Given the description of an element on the screen output the (x, y) to click on. 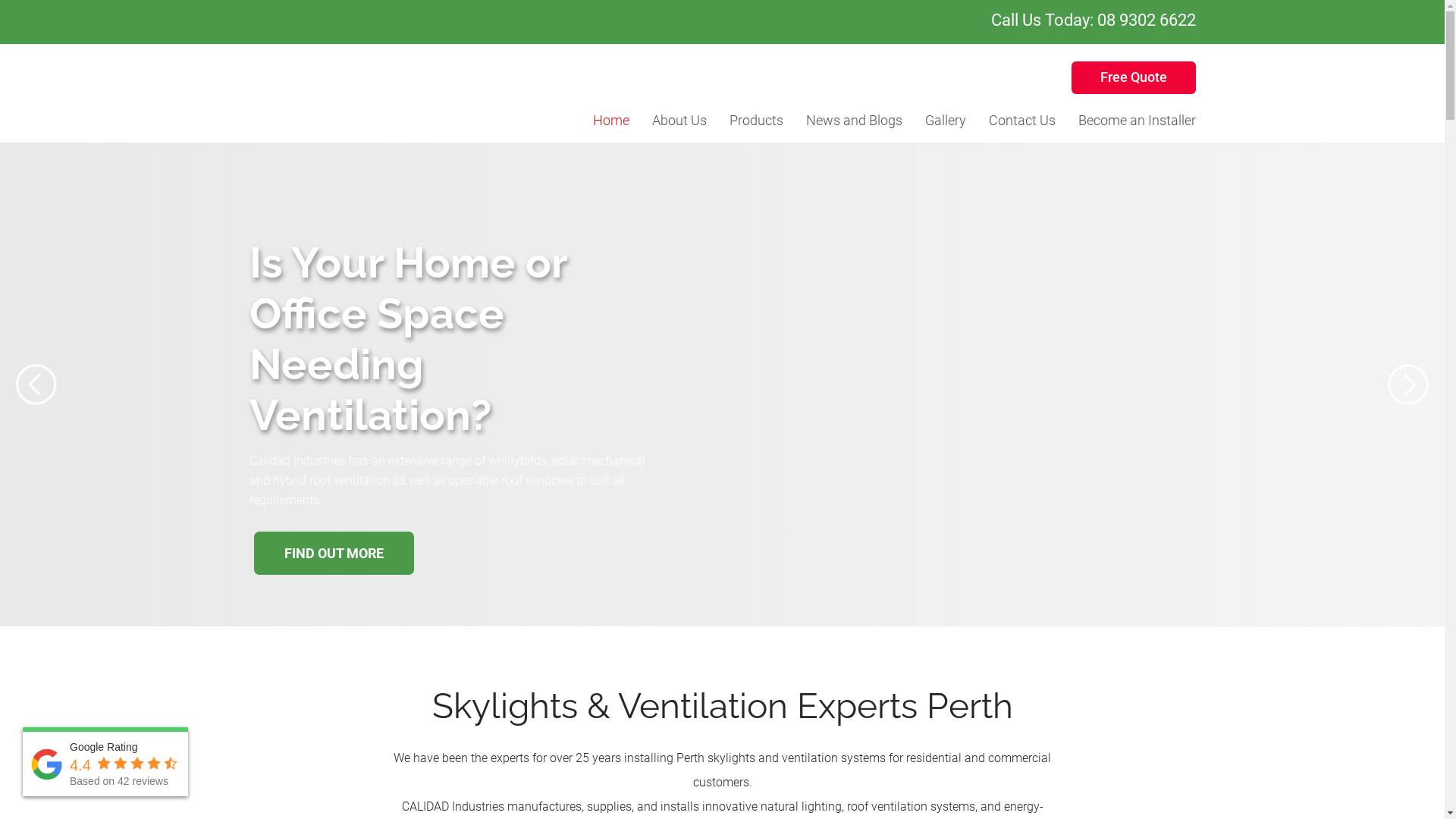
Products Element type: text (756, 120)
Refund and Return Policy Element type: text (679, 157)
Contact Us Element type: text (1021, 120)
Case Studies for Ventilation for Work Element type: text (701, 364)
Previous Element type: text (35, 384)
Roof Access Hatch Way Element type: text (756, 216)
Architectural Specifications Element type: text (756, 305)
Case Study for Skylights for Work Element type: text (701, 393)
Roof Windows Element type: text (756, 186)
Become an Installer Element type: text (1136, 120)
Links Element type: text (756, 393)
Skylights Element type: text (756, 157)
Next Element type: text (1408, 384)
About Us Element type: text (679, 120)
Gallery Element type: text (945, 120)
Installation Instructions Element type: text (756, 334)
Free Quote Element type: text (1132, 77)
Ventilation Element type: text (756, 245)
Attic Ladders Element type: text (756, 275)
Home Element type: text (611, 120)
FIND OUT MORE Element type: text (332, 584)
News and Blogs Element type: text (853, 120)
08 9302 6622 Element type: text (1145, 19)
Case Studies Element type: text (756, 364)
